Given the description of an element on the screen output the (x, y) to click on. 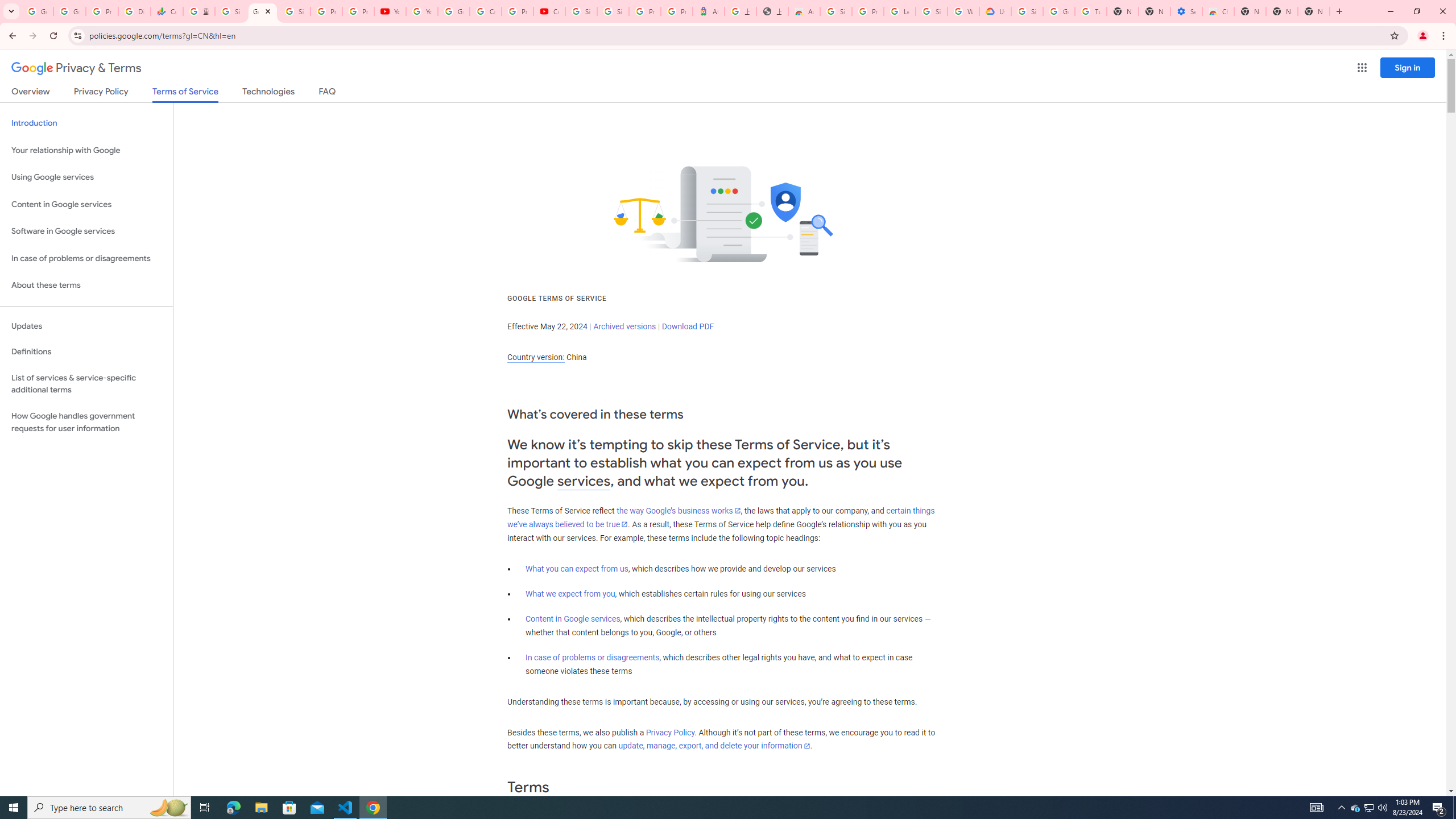
What you can expect from us (576, 568)
Google Account Help (1059, 11)
Sign in - Google Accounts (294, 11)
Definitions (86, 352)
YouTube (421, 11)
Sign in - Google Accounts (931, 11)
